Given the description of an element on the screen output the (x, y) to click on. 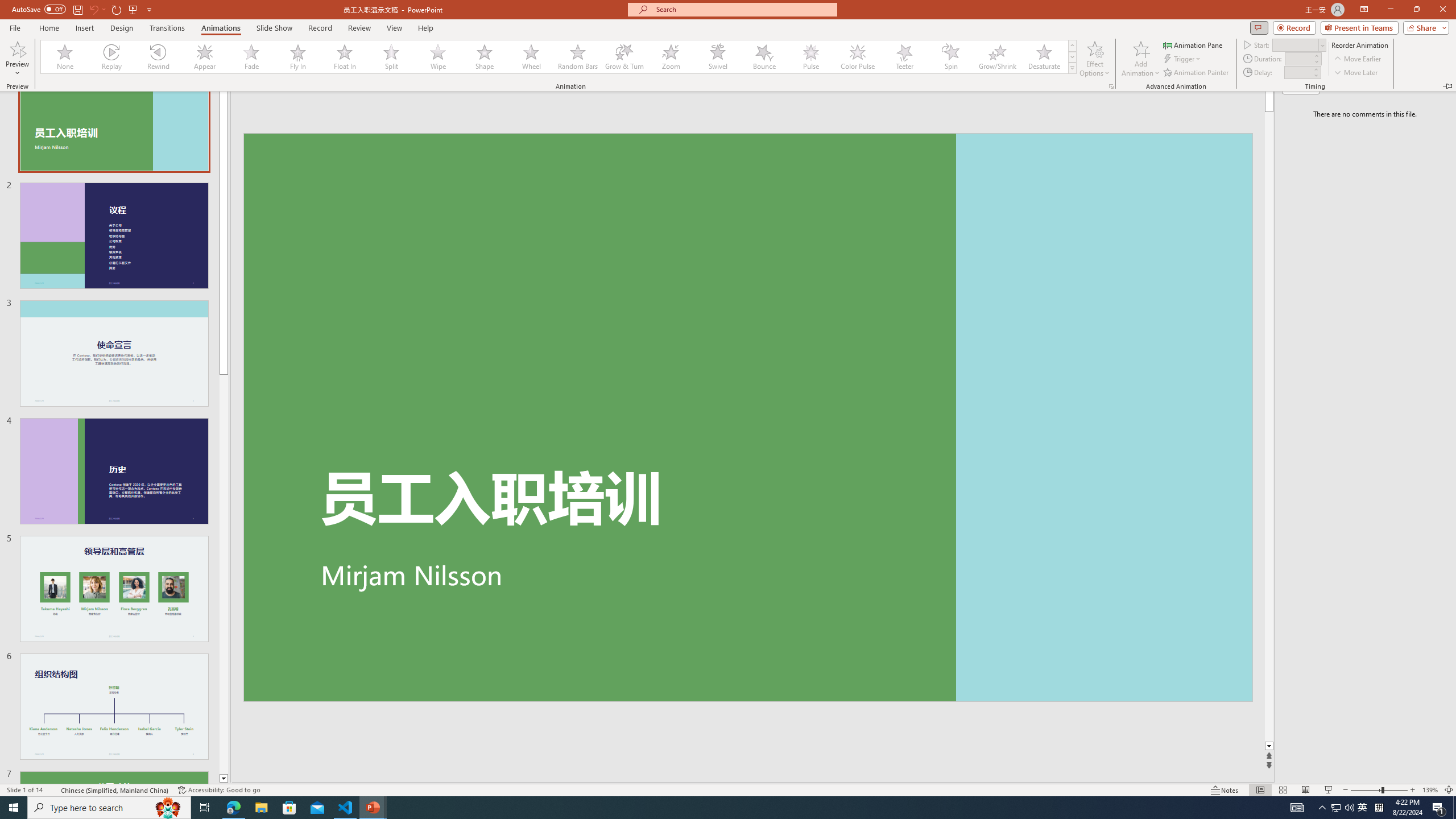
Search highlights icon opens search home window (167, 807)
PowerPoint - 2 running windows (373, 807)
